Given the description of an element on the screen output the (x, y) to click on. 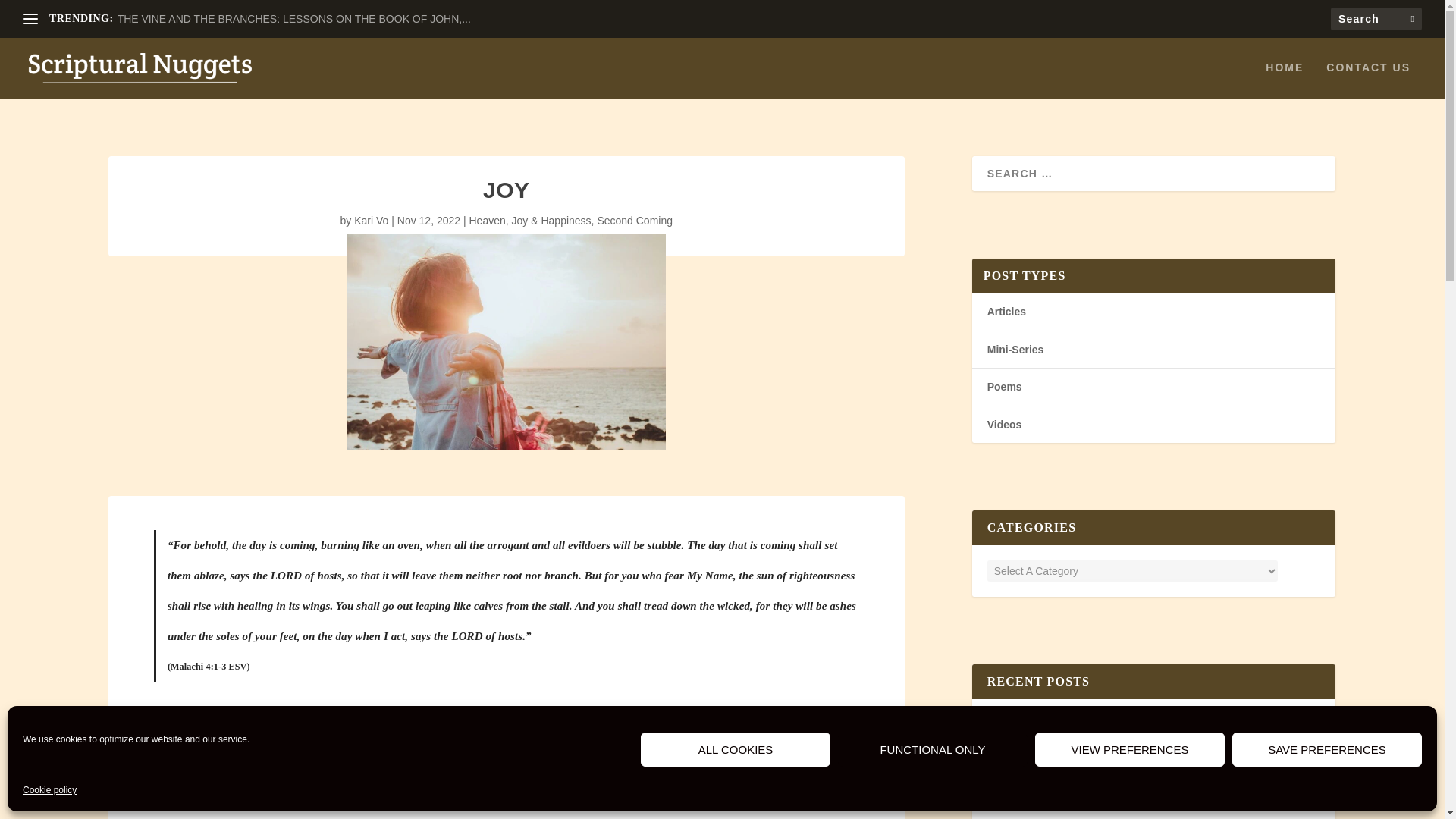
HOME (1284, 79)
Steadfast Love (1024, 719)
Jehovah Jireh (1022, 773)
Articles (1006, 311)
SAVE PREFERENCES (1326, 749)
God's Love (1066, 787)
Heaven (486, 220)
Love (1104, 733)
Joy 1 SM (506, 341)
THE VINE AND THE BRANCHES: LESSONS ON THE BOOK OF JOHN,... (293, 19)
Search (31, 13)
Kari Vo (370, 220)
God's Love (1066, 733)
Videos (1004, 424)
Cookie policy (50, 791)
